Given the description of an element on the screen output the (x, y) to click on. 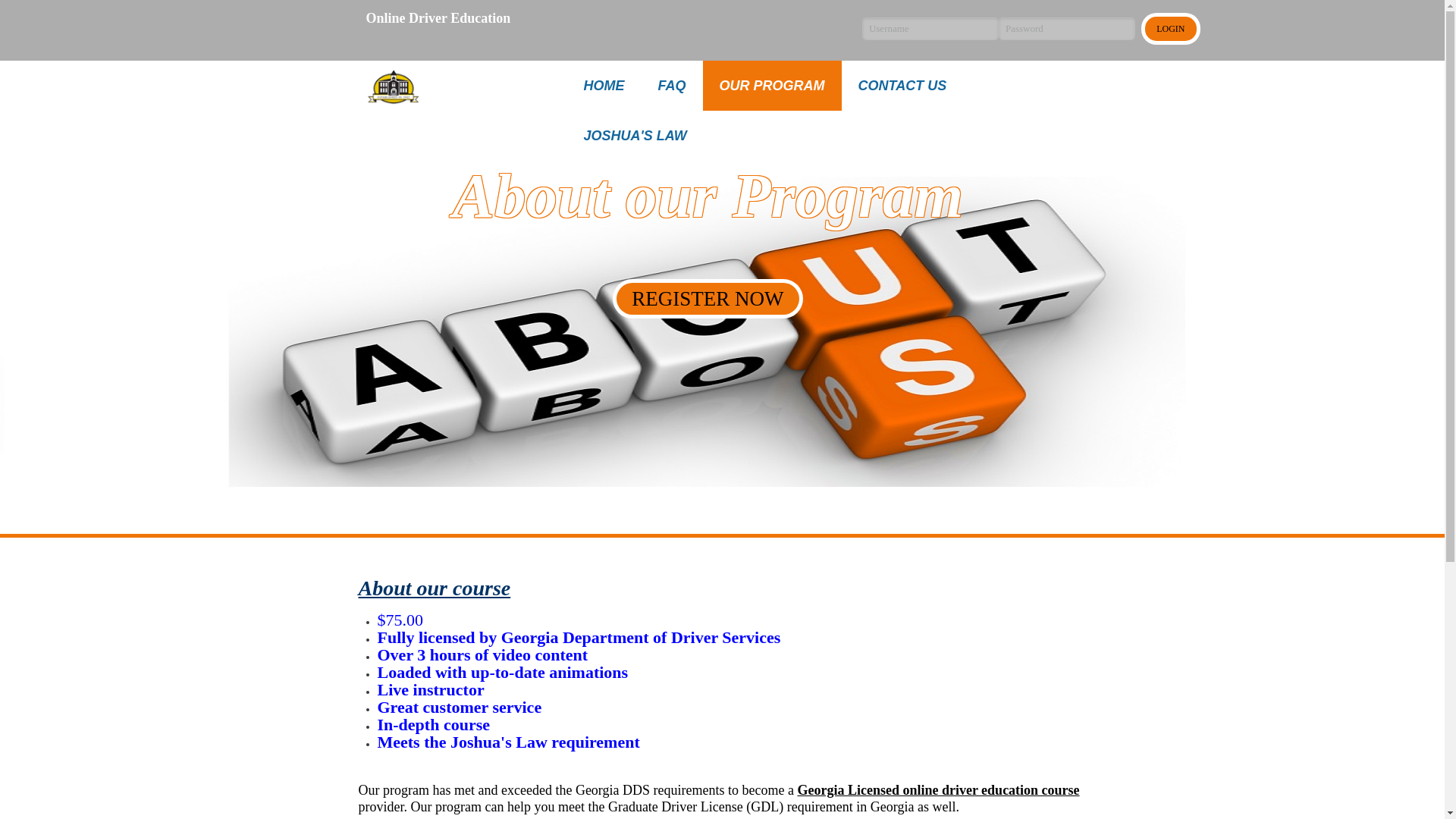
LOGIN (1169, 28)
REGISTER NOW (706, 298)
JOSHUA'S LAW (635, 135)
OUR PROGRAM (772, 85)
HOME (604, 85)
FAQ (672, 85)
CONTACT US (902, 85)
